Given the description of an element on the screen output the (x, y) to click on. 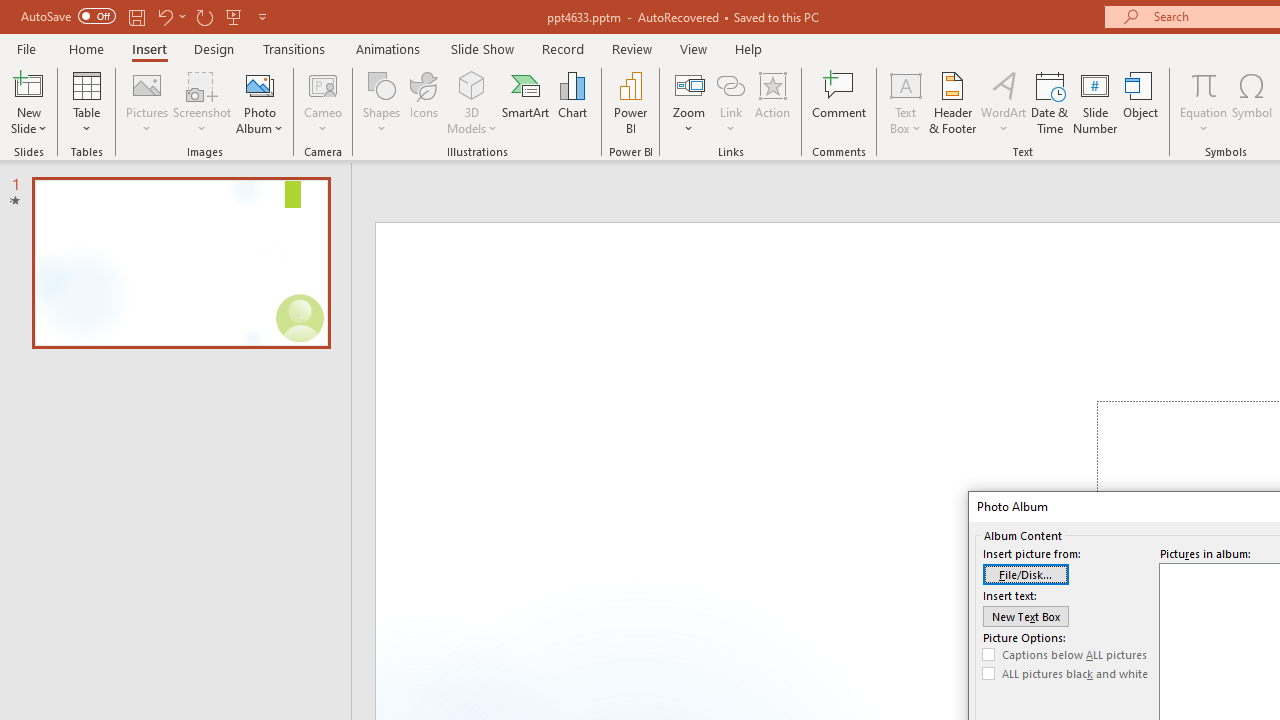
Draw Horizontal Text Box (905, 84)
Equation (1203, 84)
Cameo (323, 102)
3D Models (472, 84)
Pictures (147, 102)
Power BI (630, 102)
Object... (1141, 102)
WordArt (1004, 102)
ALL pictures black and white (1065, 673)
3D Models (472, 102)
Equation (1203, 102)
